Given the description of an element on the screen output the (x, y) to click on. 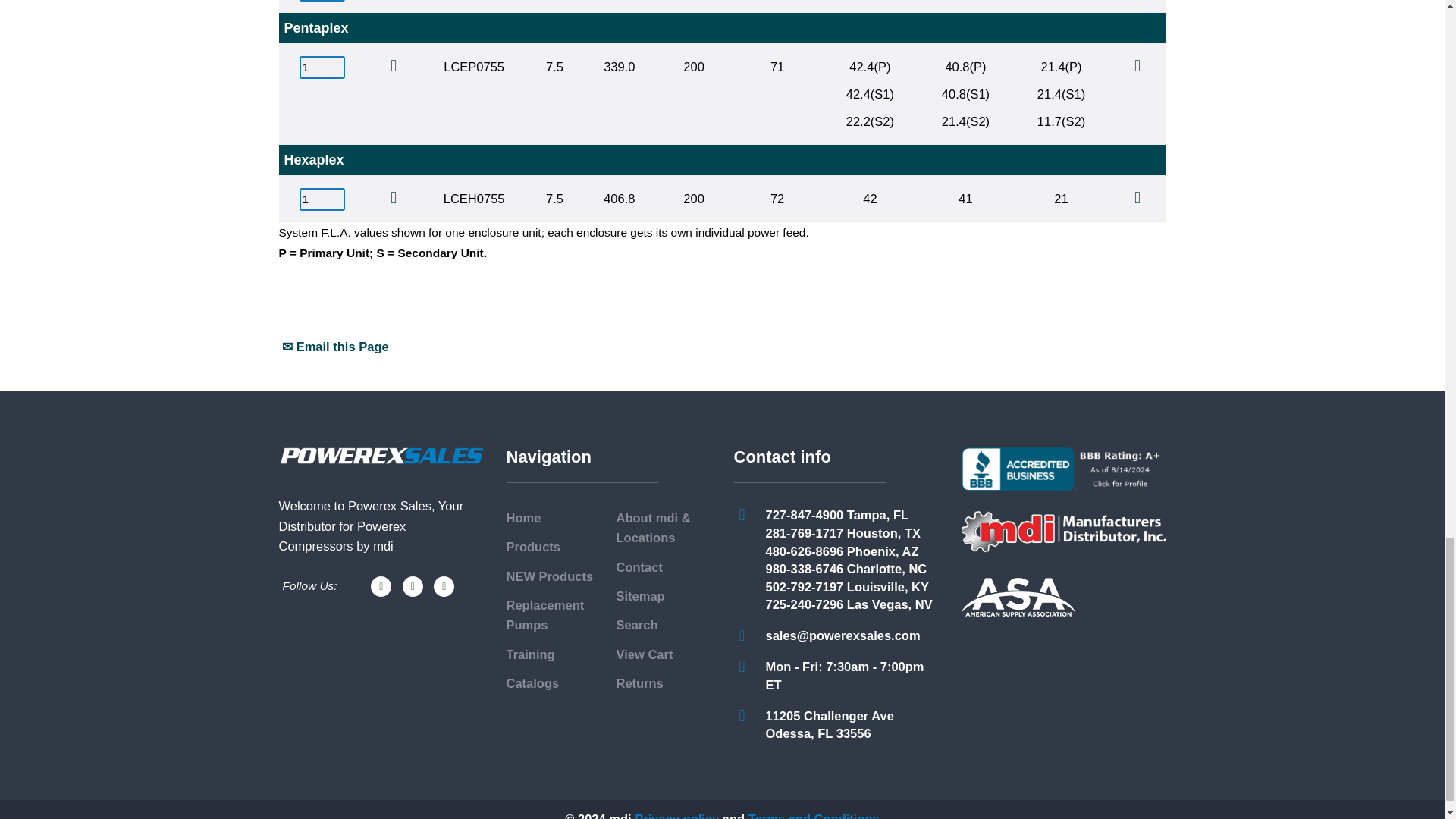
American Supply Association (1017, 597)
1 (322, 199)
1 (322, 67)
1 (322, 0)
